Given the description of an element on the screen output the (x, y) to click on. 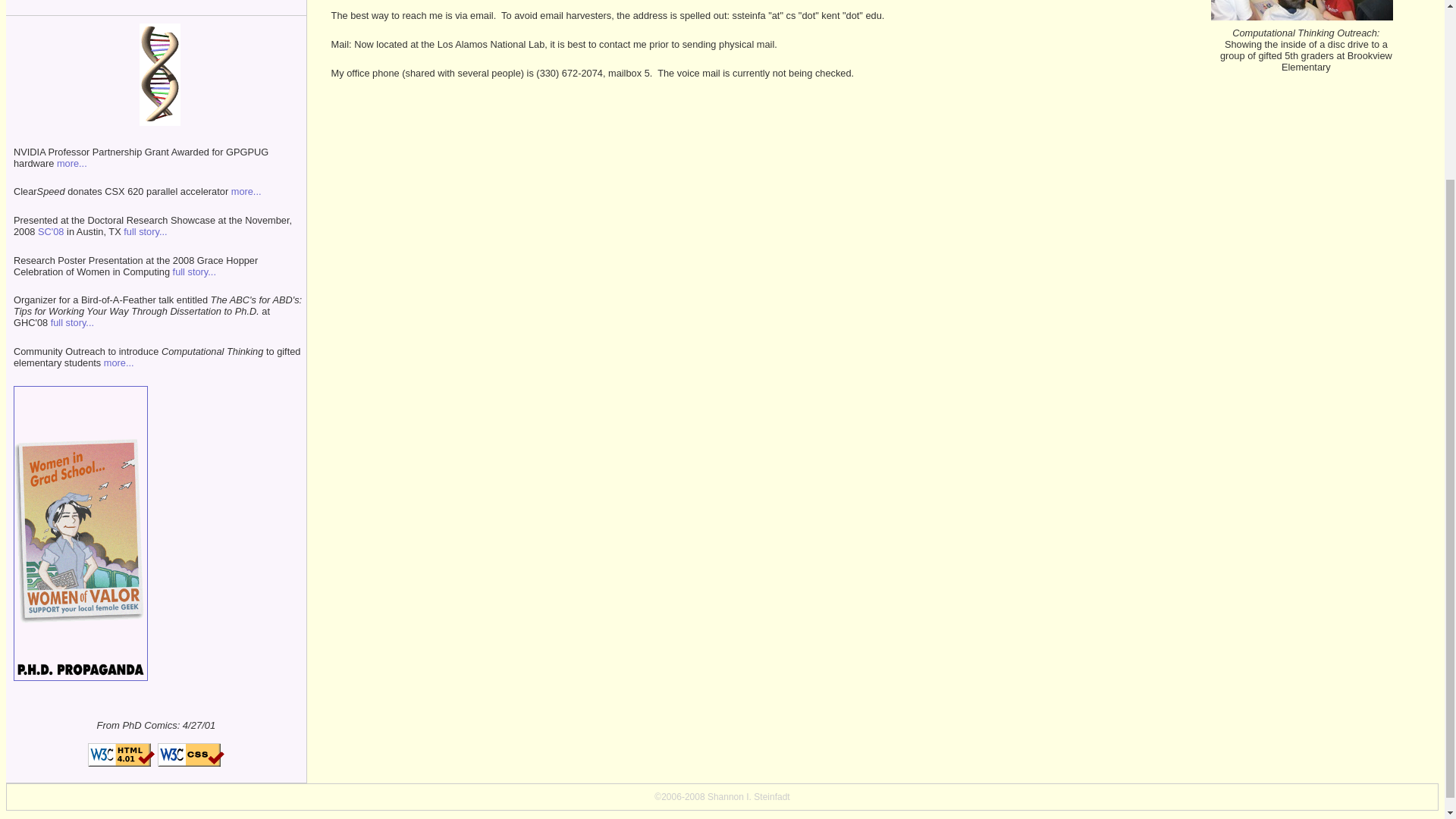
SC'08 (50, 231)
more... (71, 163)
full story... (143, 231)
more... (246, 191)
full story... (72, 322)
more... (118, 362)
full story... (194, 271)
